Given the description of an element on the screen output the (x, y) to click on. 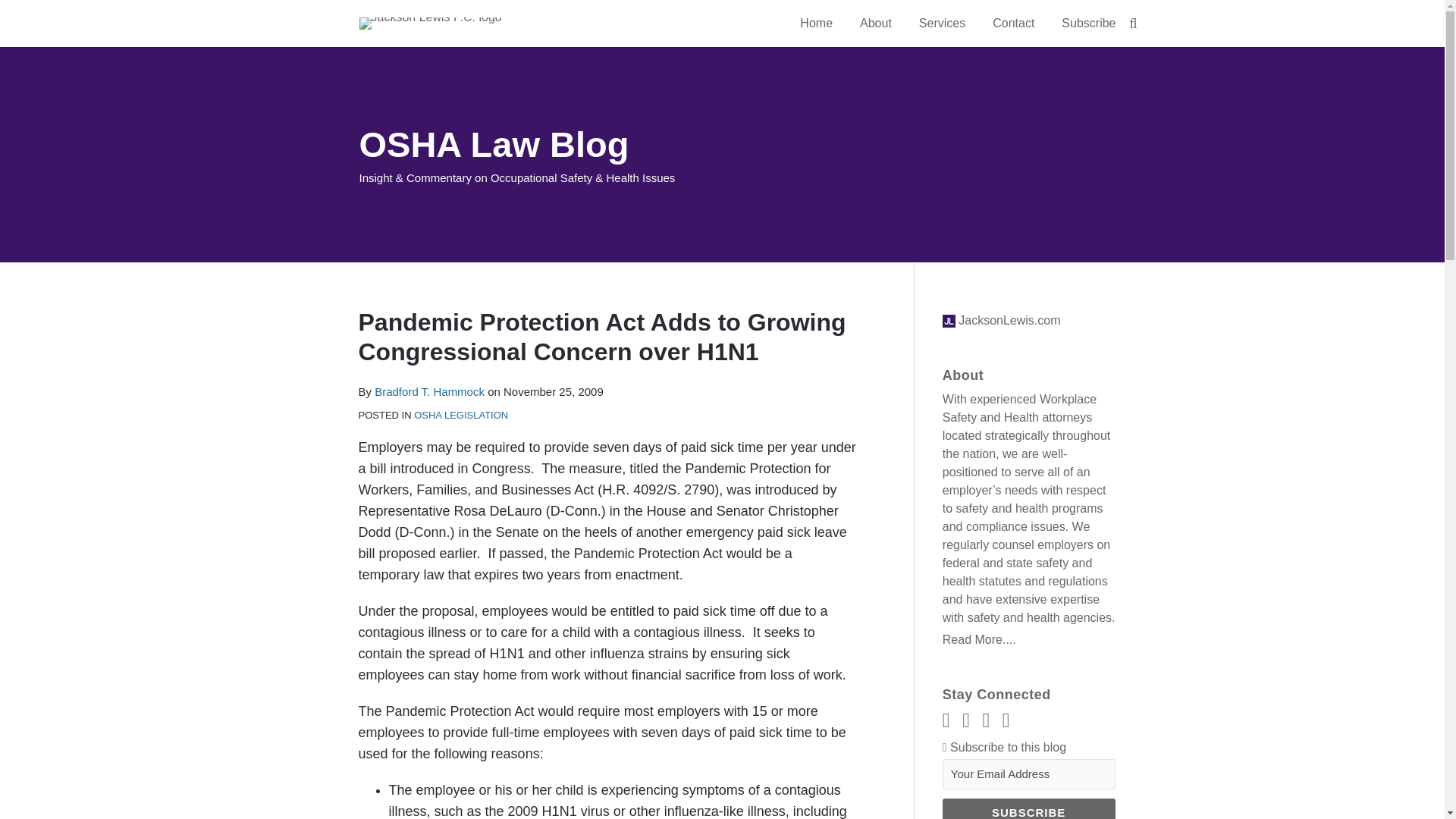
Home (815, 23)
OSHA Law Blog (493, 144)
JacksonLewis.com (1001, 319)
Services (941, 23)
Bradford T. Hammock (429, 391)
Subscribe (1088, 23)
Subscribe (1028, 808)
About (875, 23)
Read More.... (1028, 639)
OSHA LEGISLATION (460, 414)
Contact (1012, 23)
Subscribe (1028, 808)
